Given the description of an element on the screen output the (x, y) to click on. 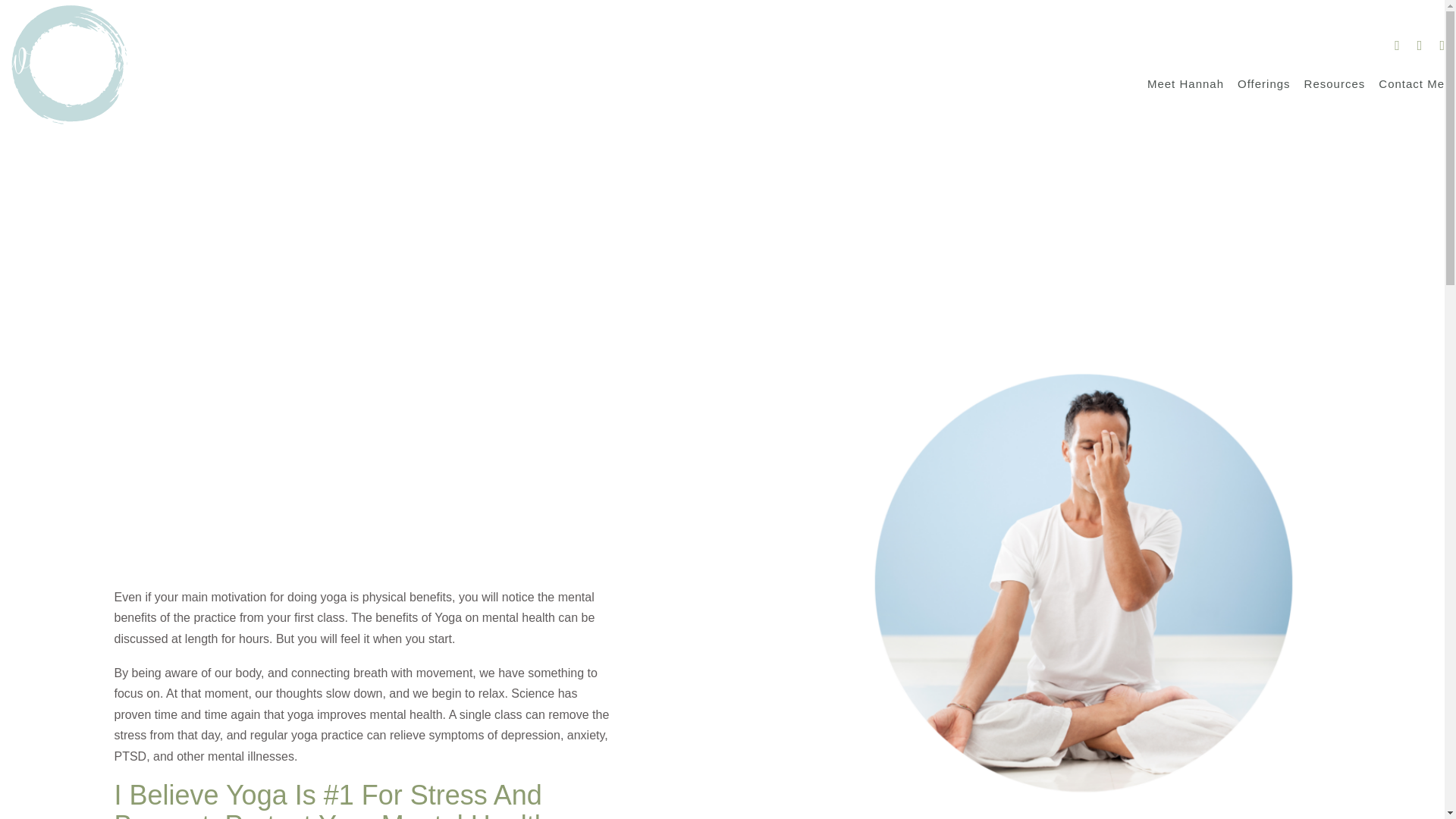
Resources (1334, 84)
Offerings (1263, 84)
Meet Hannah (1185, 84)
